Given the description of an element on the screen output the (x, y) to click on. 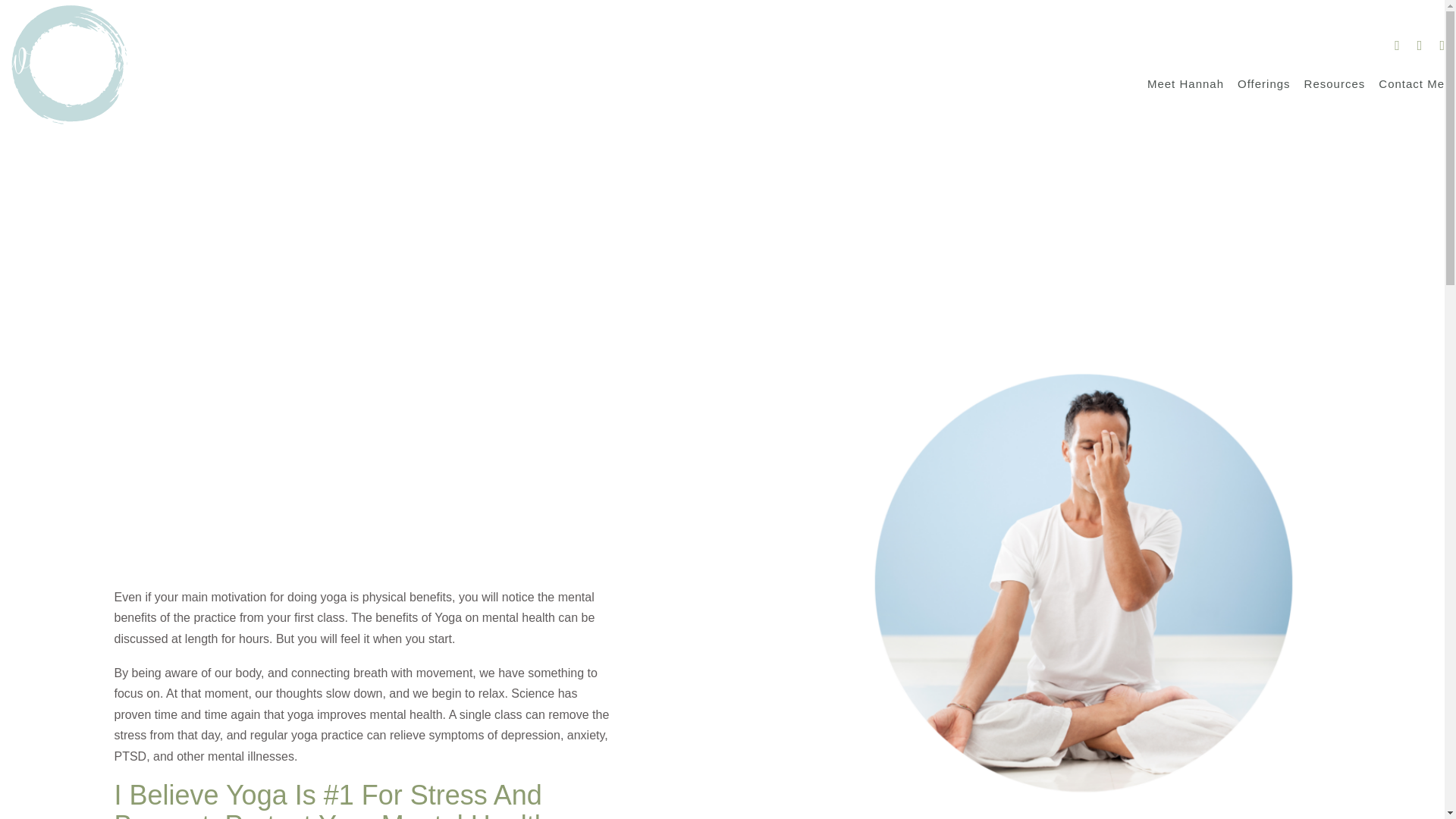
Resources (1334, 84)
Offerings (1263, 84)
Meet Hannah (1185, 84)
